Given the description of an element on the screen output the (x, y) to click on. 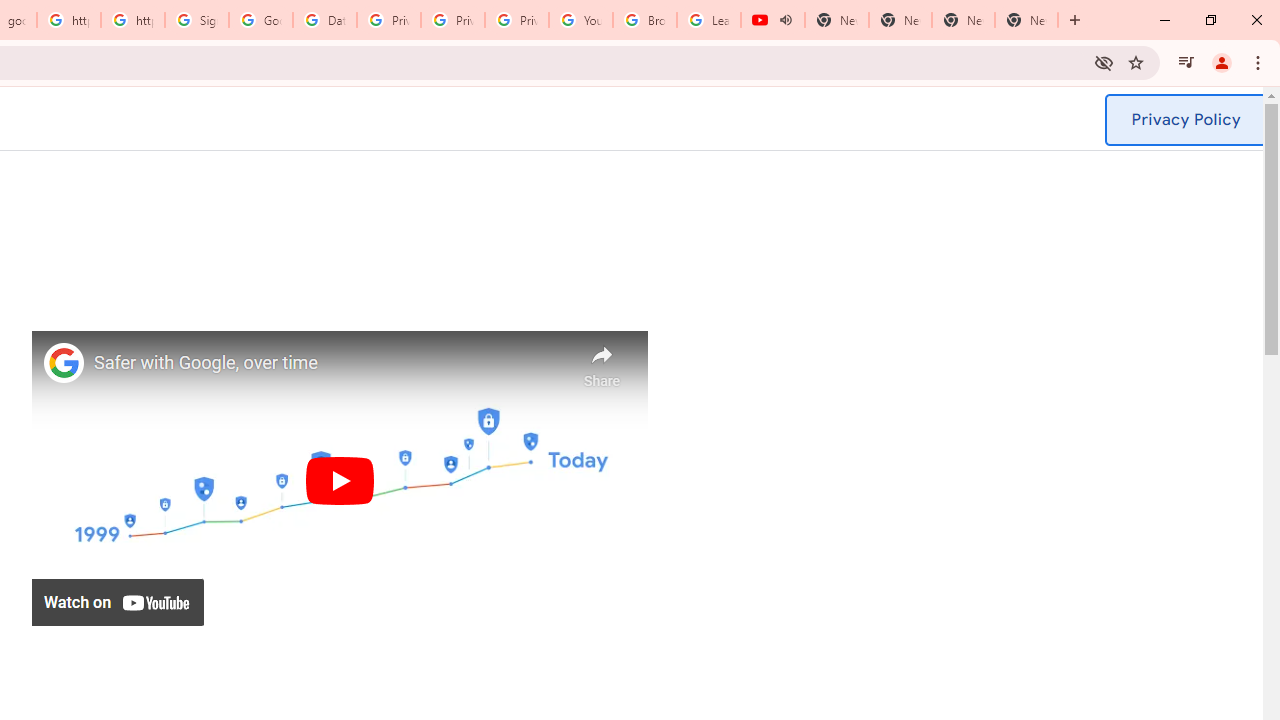
Watch on YouTube (118, 601)
Privacy Policy (1185, 119)
You (1221, 62)
Share (601, 361)
New Tab (1026, 20)
Control your music, videos, and more (1185, 62)
Mute tab (785, 20)
https://scholar.google.com/ (69, 20)
Bookmark this tab (1135, 62)
https://scholar.google.com/ (133, 20)
Browse Chrome as a guest - Computer - Google Chrome Help (645, 20)
